Given the description of an element on the screen output the (x, y) to click on. 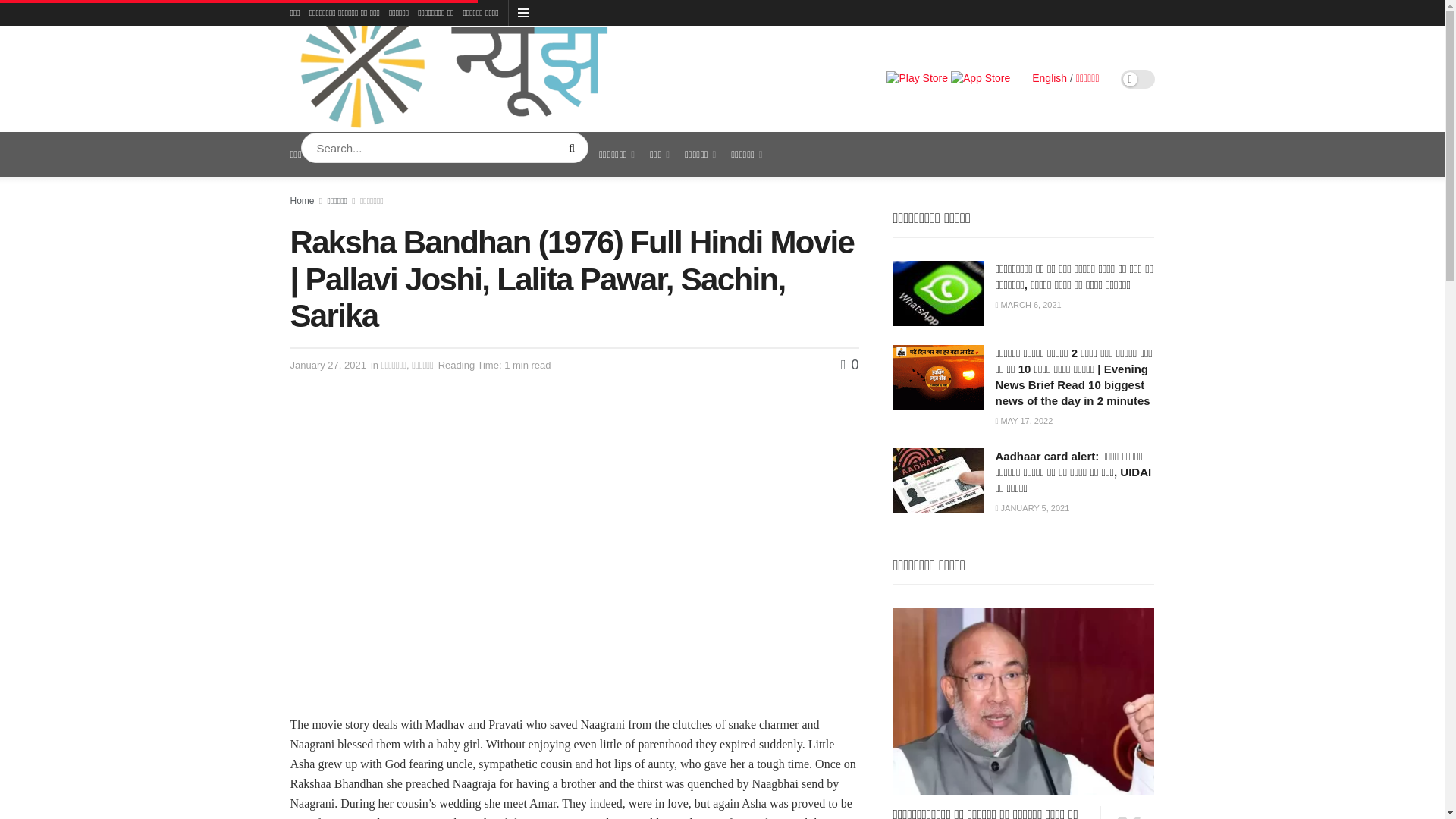
English (1049, 78)
